Given the description of an element on the screen output the (x, y) to click on. 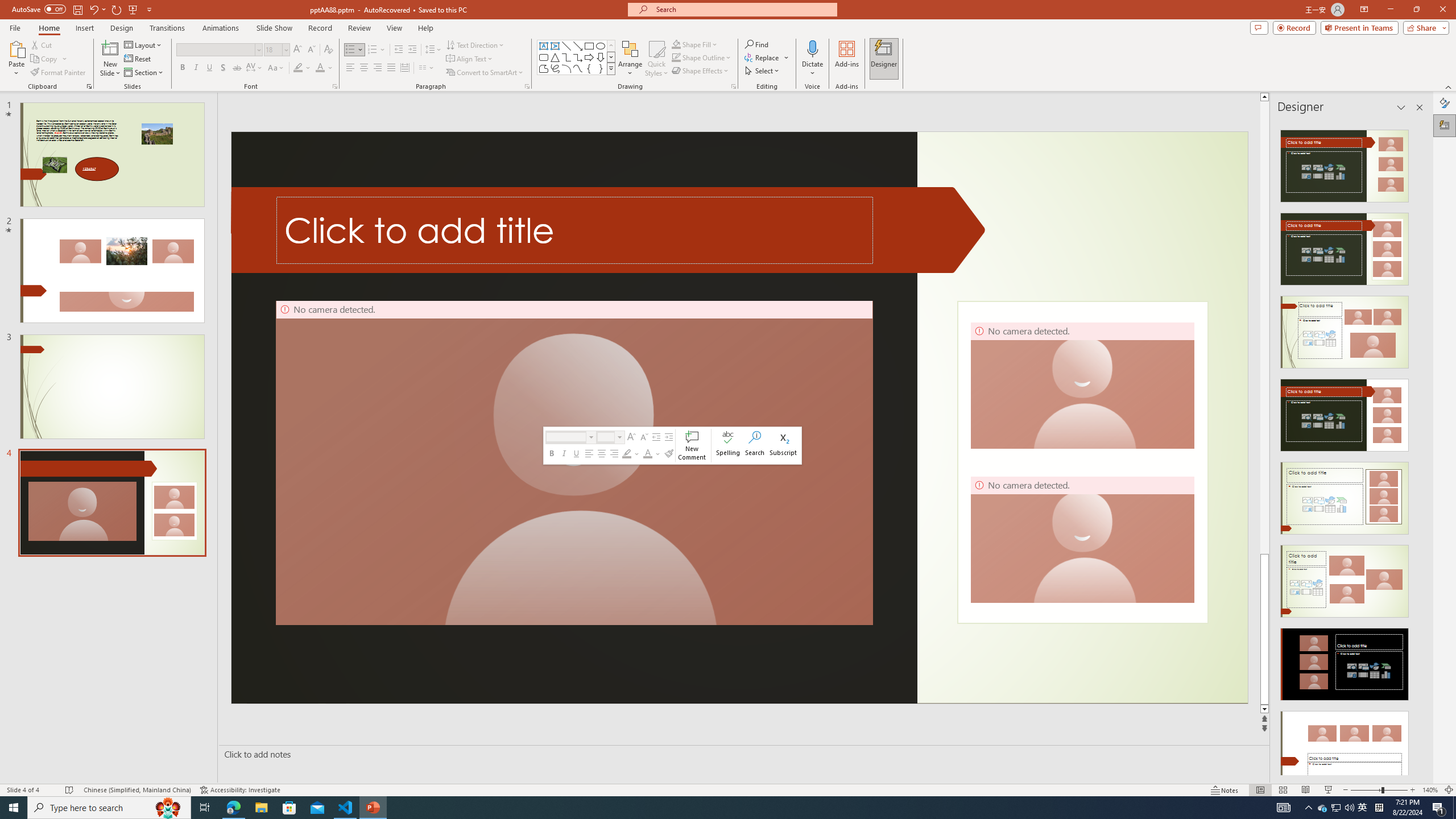
Camera 3, No camera detected. (1082, 385)
